Given the description of an element on the screen output the (x, y) to click on. 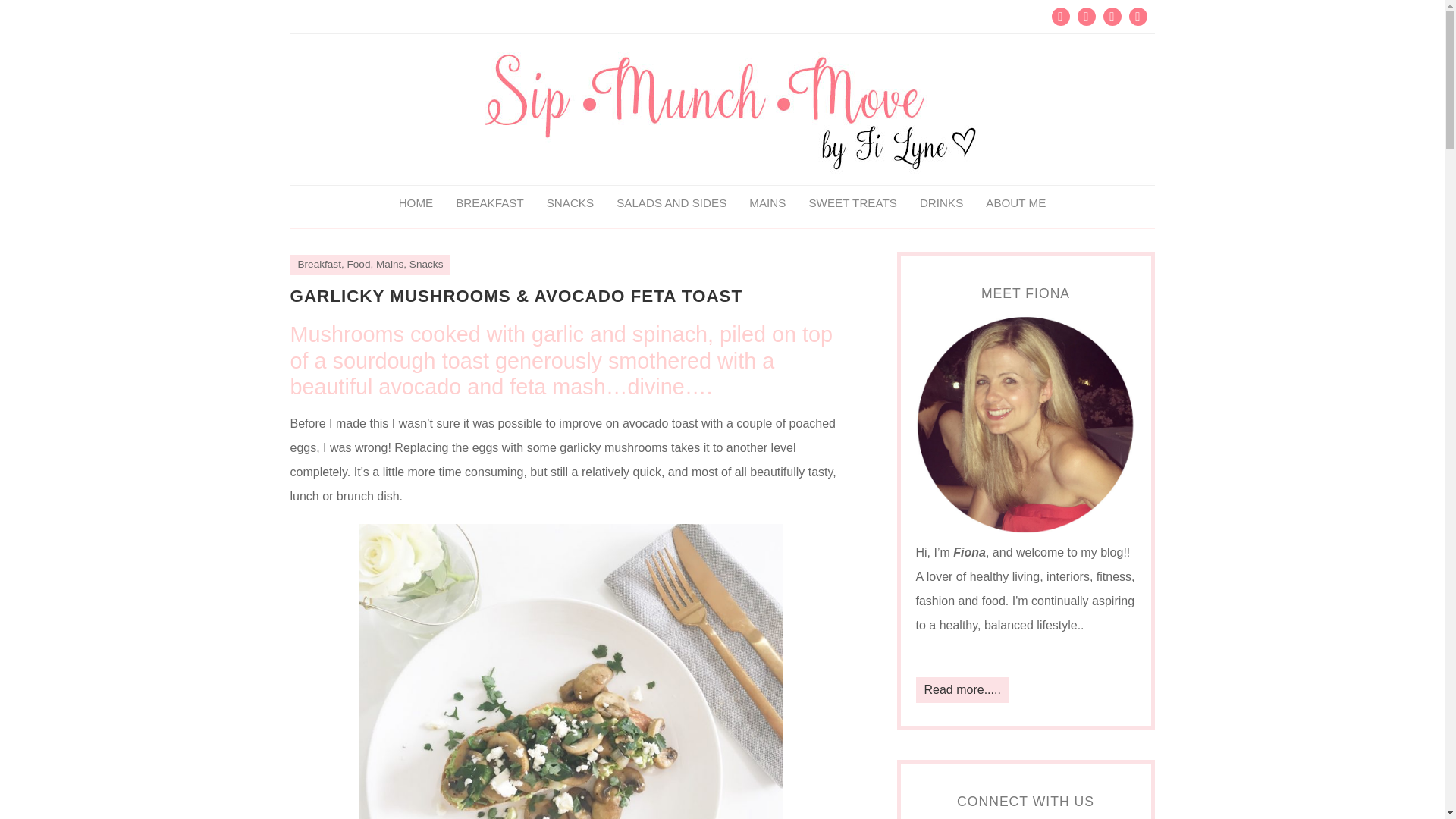
Breakfast (318, 264)
HOME (416, 202)
SALADS AND SIDES (671, 202)
ABOUT ME (1015, 202)
MAINS (767, 202)
SNACKS (570, 202)
Snacks (426, 264)
BREAKFAST (489, 202)
Food (357, 264)
SWEET TREATS (851, 202)
Mains (389, 264)
DRINKS (941, 202)
Read more..... (962, 689)
